Given the description of an element on the screen output the (x, y) to click on. 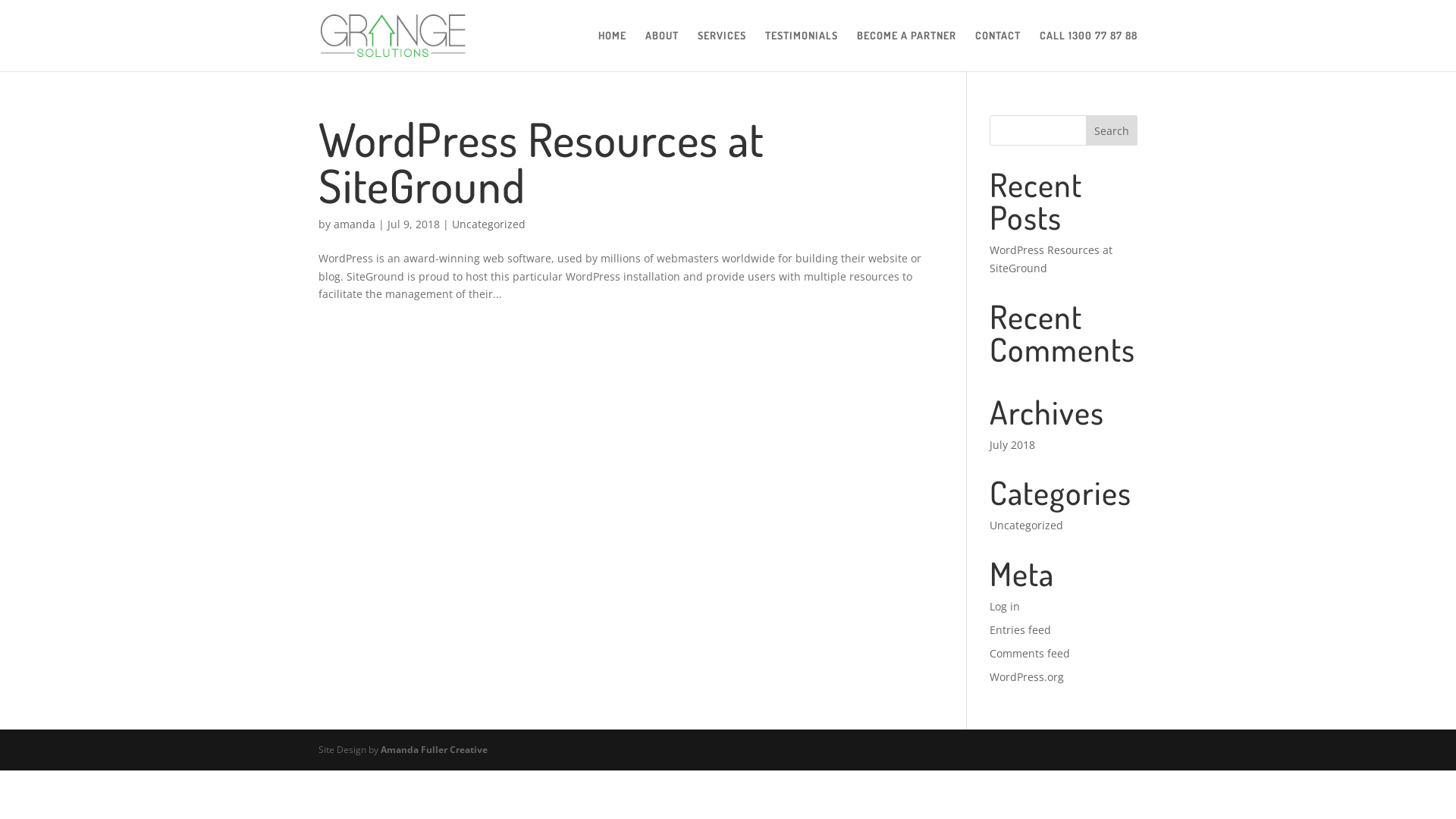
WordPress Resources at SiteGround Element type: text (541, 161)
BECOME A PARTNER Element type: text (906, 50)
Search Element type: text (1111, 130)
HOME Element type: text (612, 50)
CALL 1300 77 87 88 Element type: text (1088, 50)
Comments feed Element type: text (1029, 653)
July 2018 Element type: text (1012, 444)
WordPress.org Element type: text (1026, 676)
amanda Element type: text (354, 223)
SERVICES Element type: text (721, 50)
WordPress Resources at SiteGround Element type: text (1050, 258)
TESTIMONIALS Element type: text (801, 50)
Uncategorized Element type: text (488, 223)
Amanda Fuller Creative Element type: text (433, 749)
Uncategorized Element type: text (1026, 524)
ABOUT Element type: text (661, 50)
Log in Element type: text (1004, 606)
CONTACT Element type: text (997, 50)
Entries feed Element type: text (1020, 629)
